Given the description of an element on the screen output the (x, y) to click on. 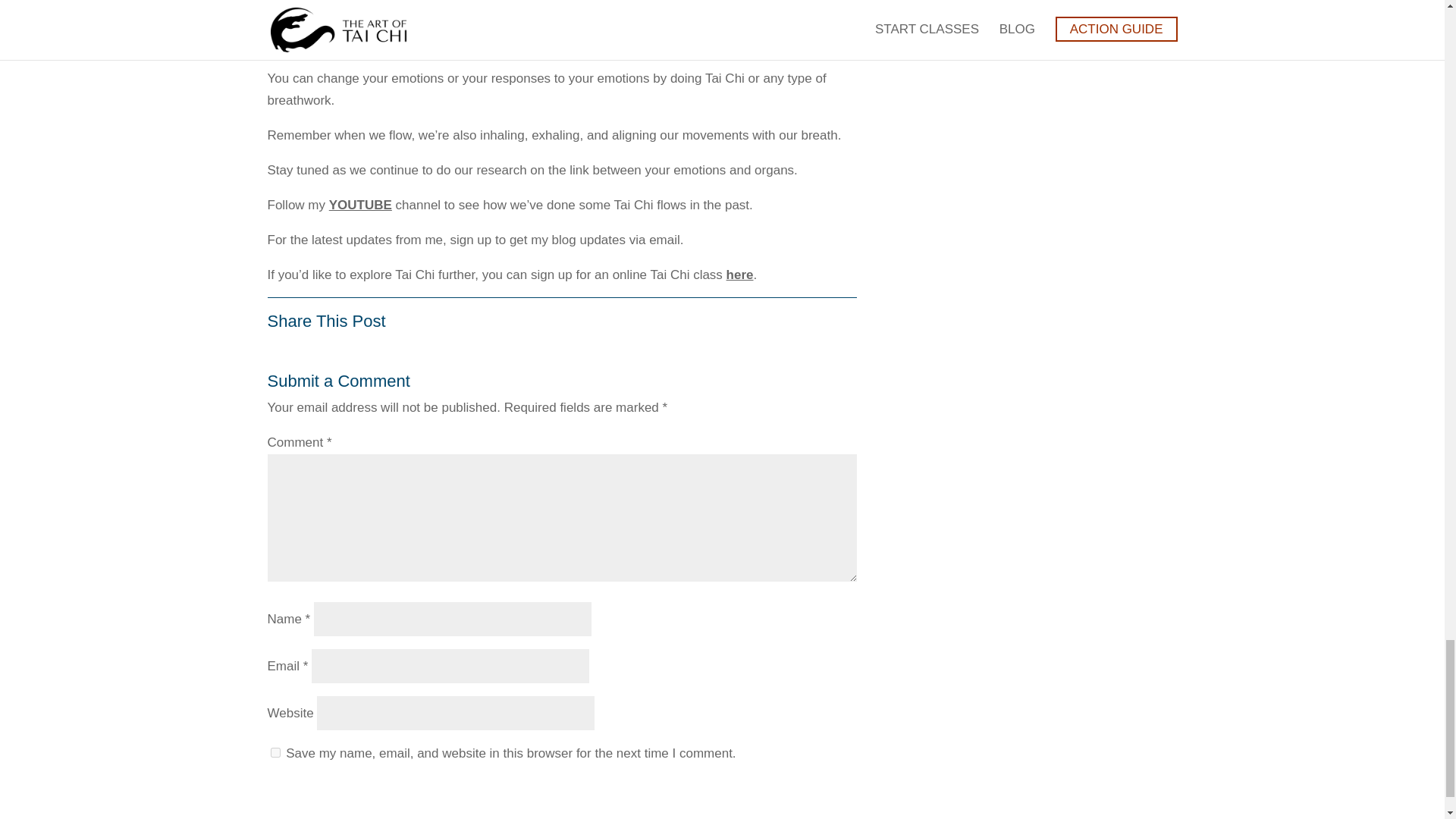
yes (274, 752)
YOUTUBE (360, 205)
here (740, 274)
